Given the description of an element on the screen output the (x, y) to click on. 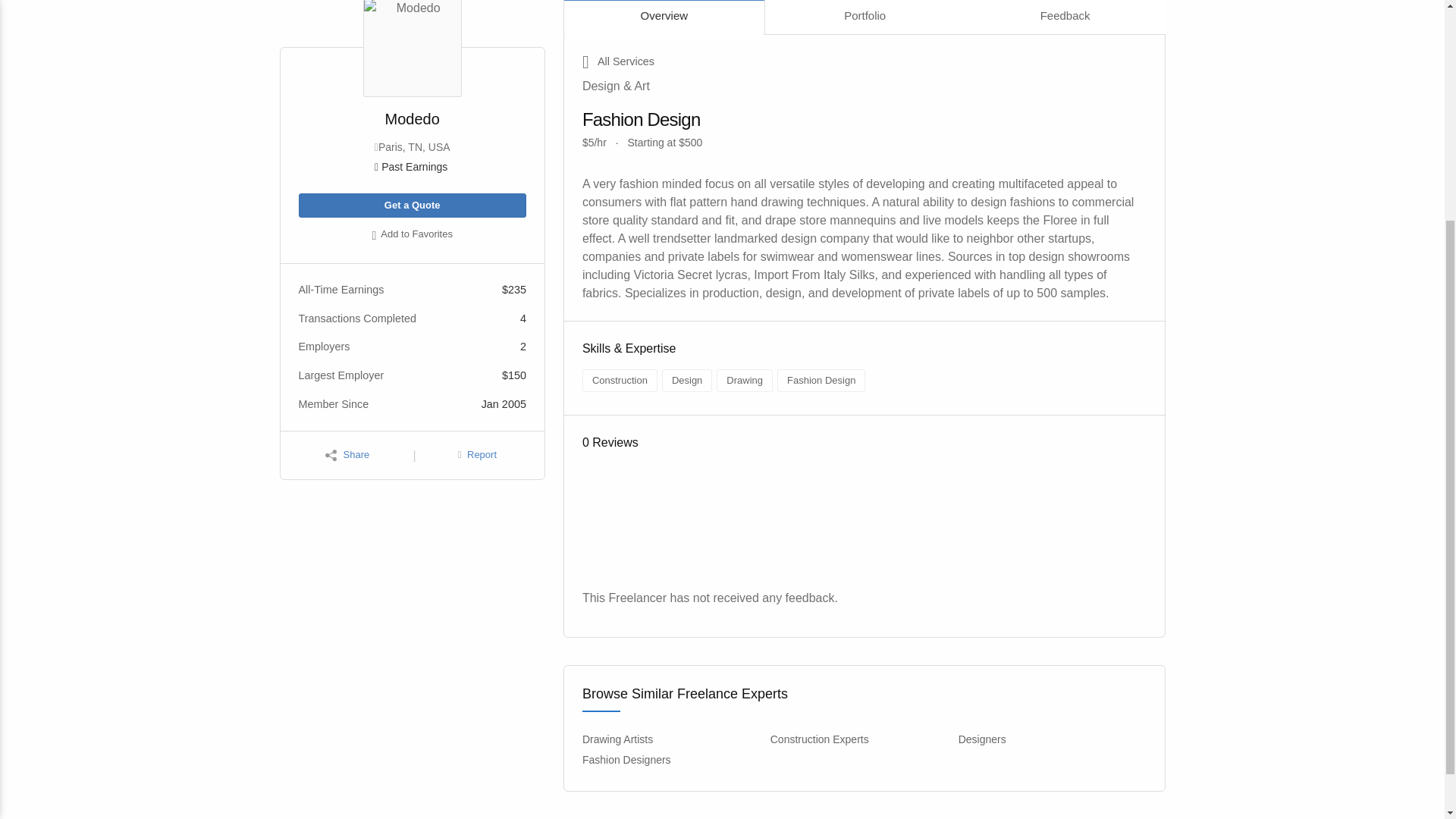
Report (477, 454)
Portfolio (865, 17)
Get a Quote (411, 205)
Overview (664, 17)
Add to Favorites (411, 235)
Share (347, 454)
Earnings in last 12 months (411, 166)
